Given the description of an element on the screen output the (x, y) to click on. 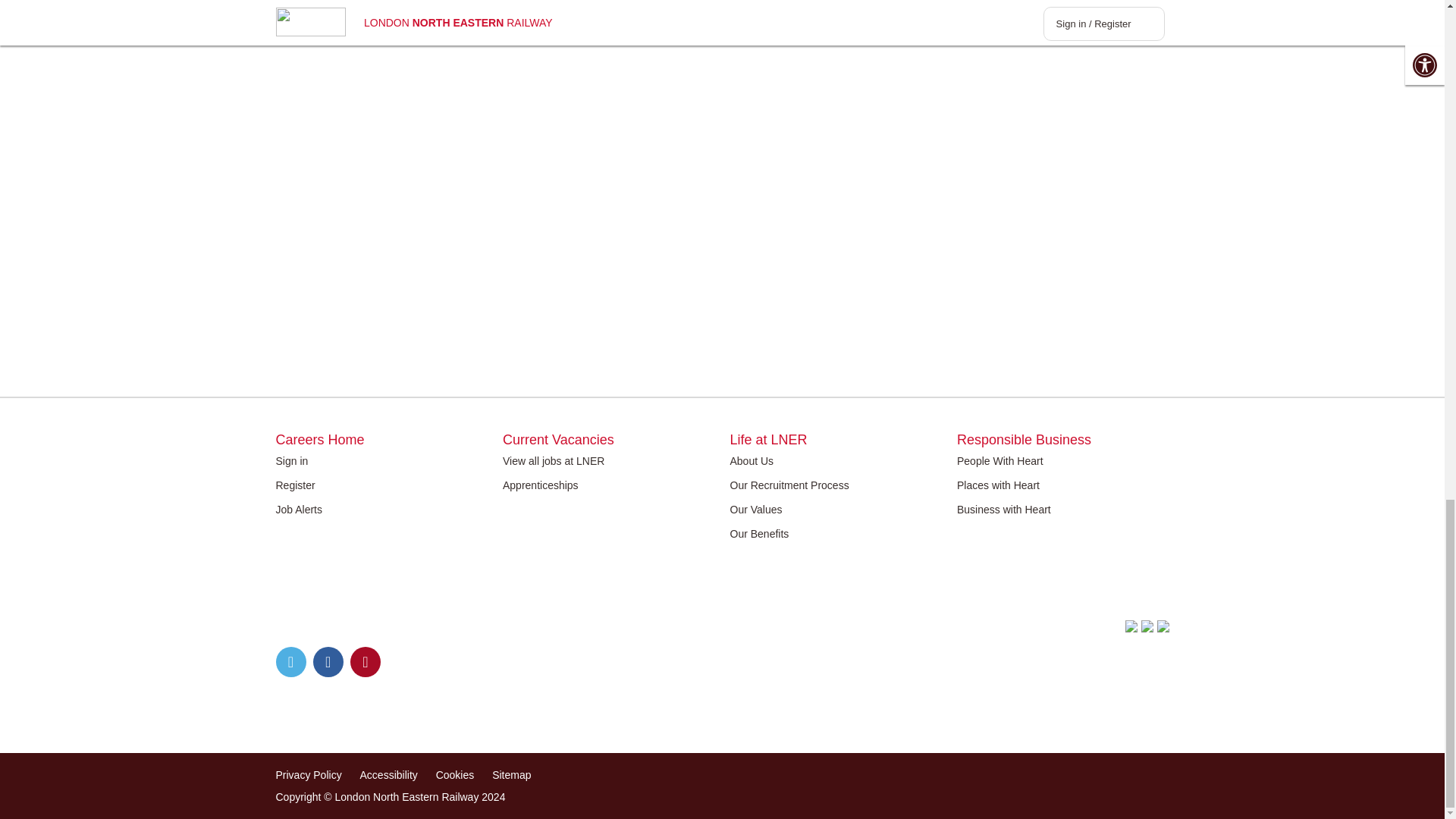
Twitter page (290, 662)
Facebook page (328, 662)
Instagram page (365, 662)
